Given the description of an element on the screen output the (x, y) to click on. 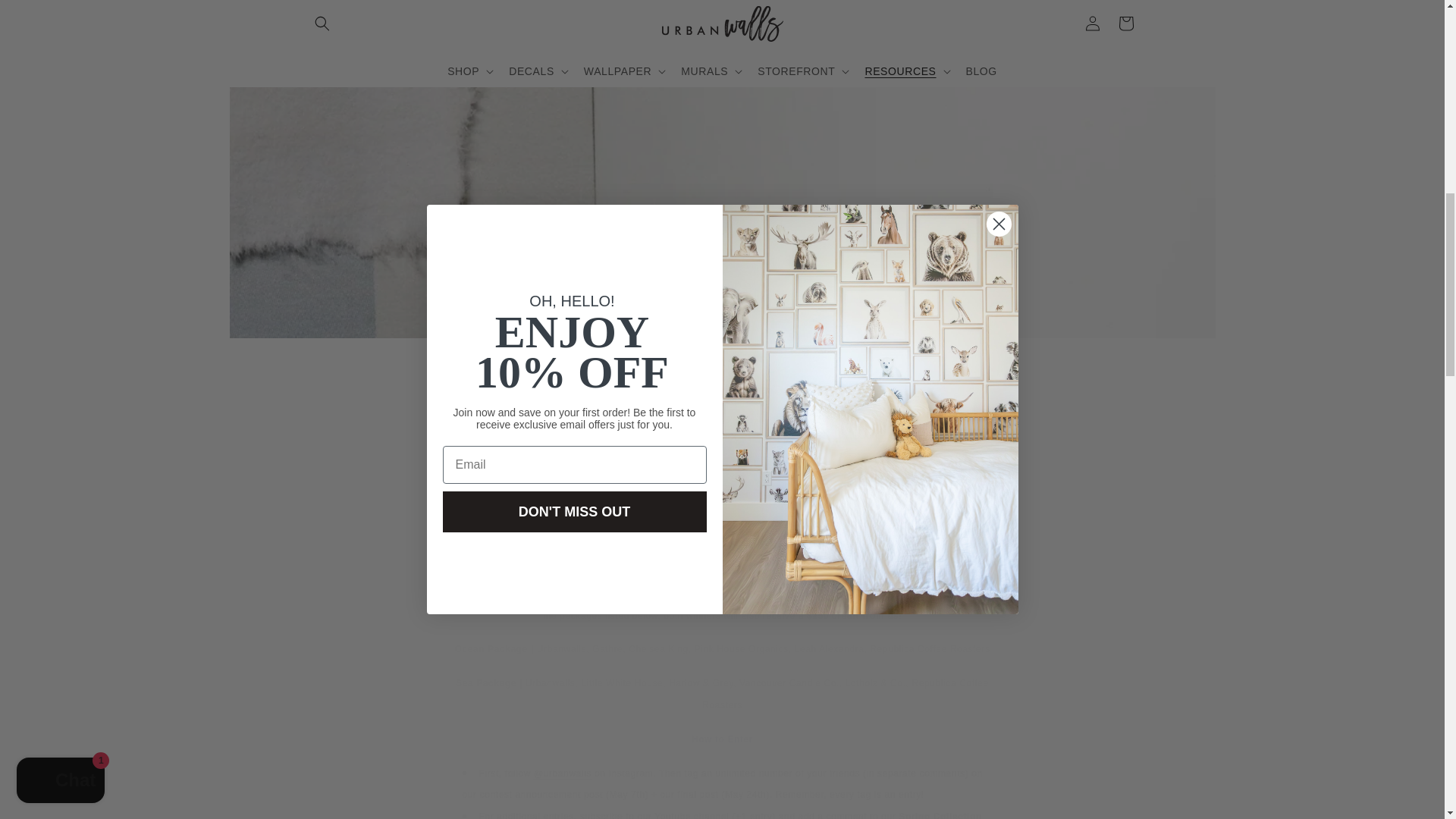
Share (721, 488)
